Given the description of an element on the screen output the (x, y) to click on. 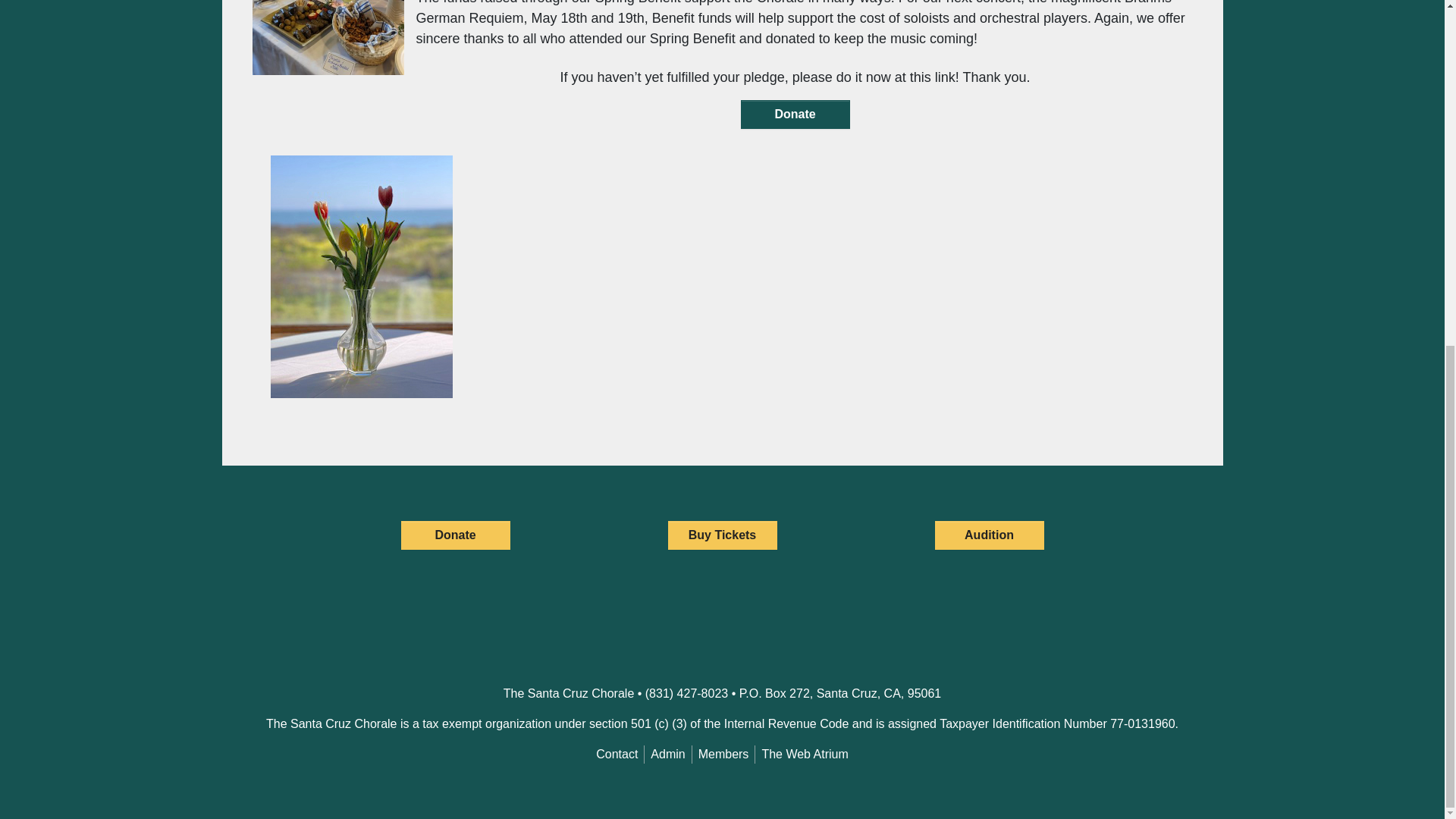
Donate (793, 113)
Contact (616, 754)
Members (724, 754)
Donate (454, 534)
Admin (667, 754)
Audition (988, 534)
The Web Atrium (804, 754)
Buy Tickets (721, 534)
